Given the description of an element on the screen output the (x, y) to click on. 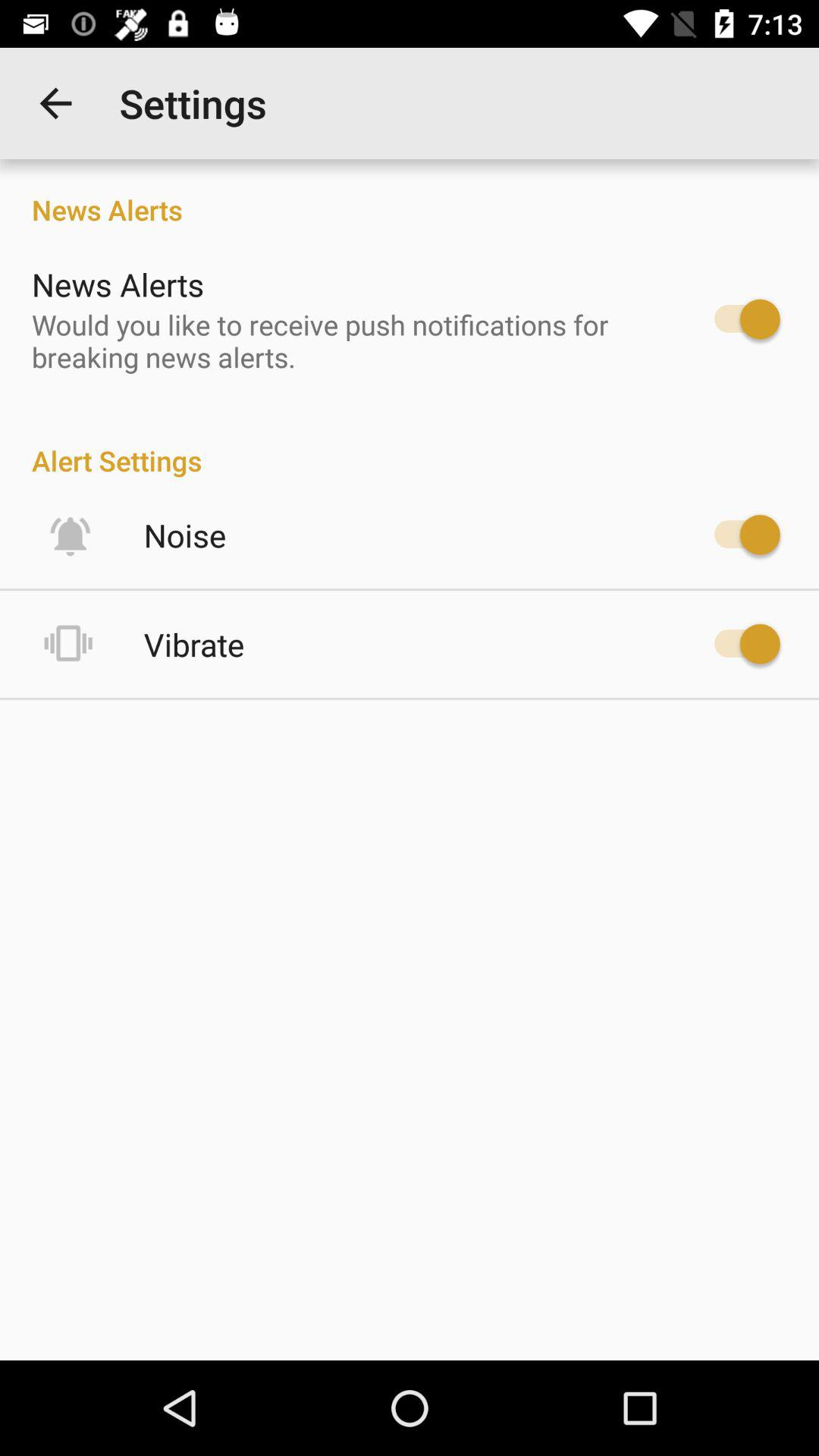
turn off the icon above the vibrate icon (184, 534)
